Given the description of an element on the screen output the (x, y) to click on. 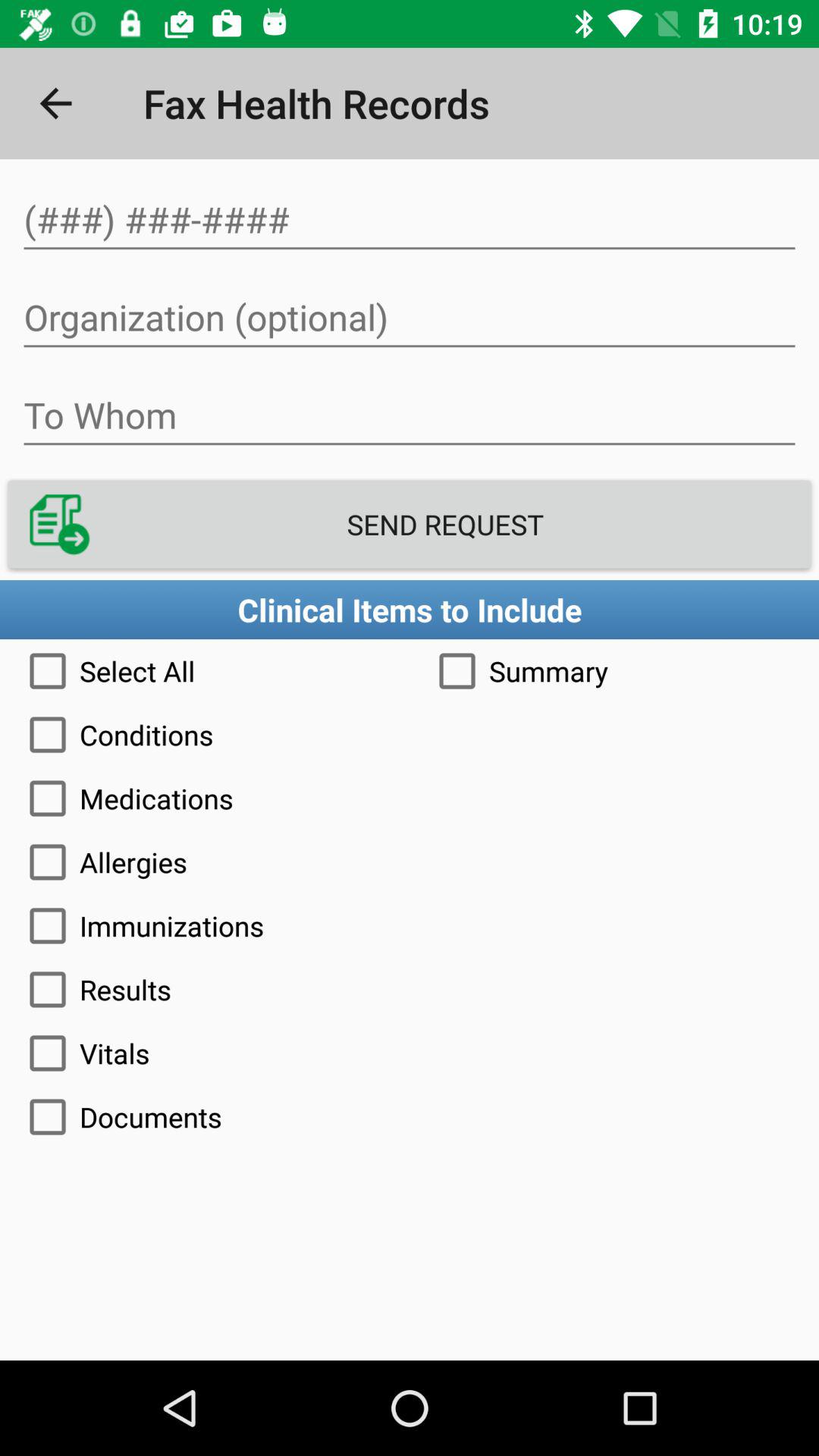
open icon to the left of the summary (204, 670)
